Given the description of an element on the screen output the (x, y) to click on. 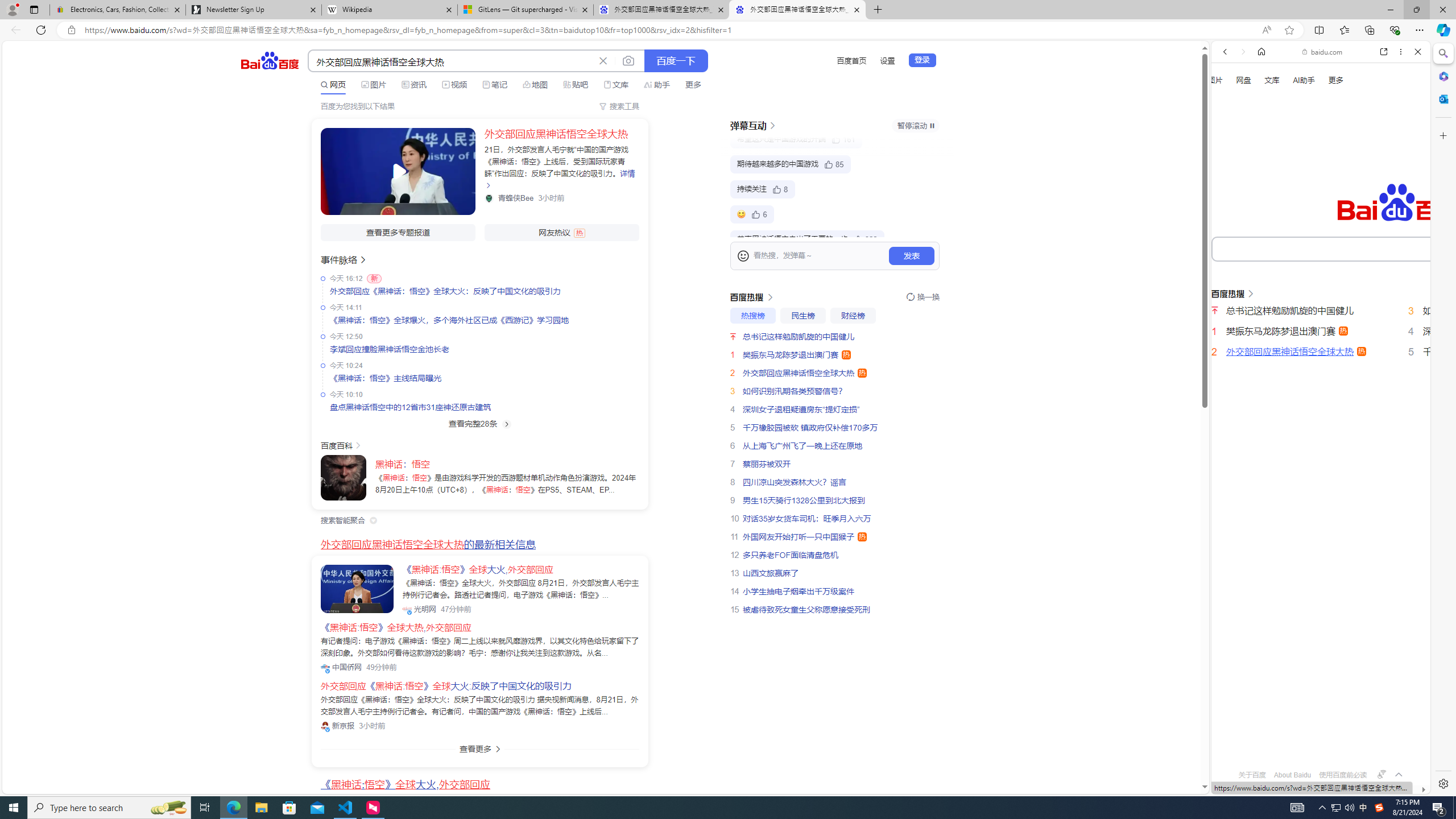
About Baidu (1292, 774)
Newsletter Sign Up (253, 9)
